Given the description of an element on the screen output the (x, y) to click on. 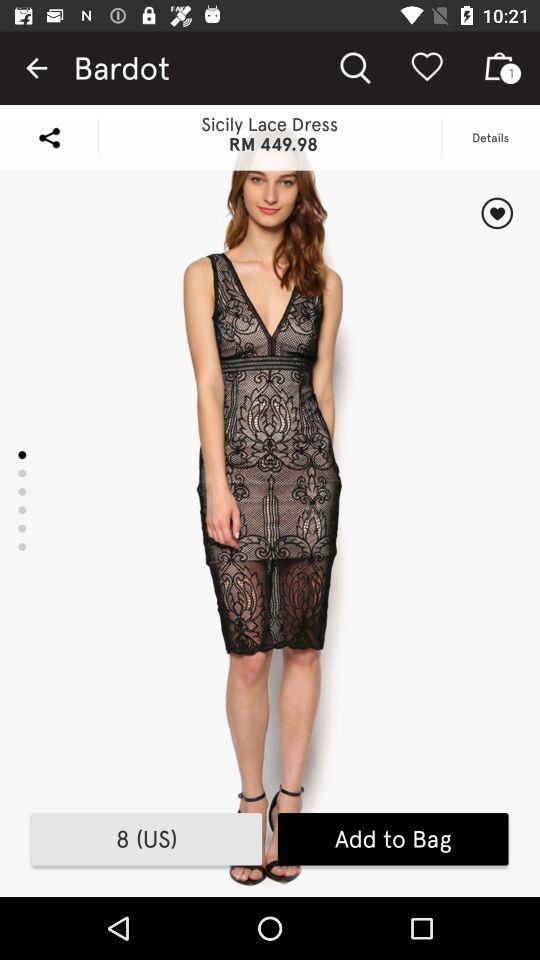
click details item (490, 137)
